Given the description of an element on the screen output the (x, y) to click on. 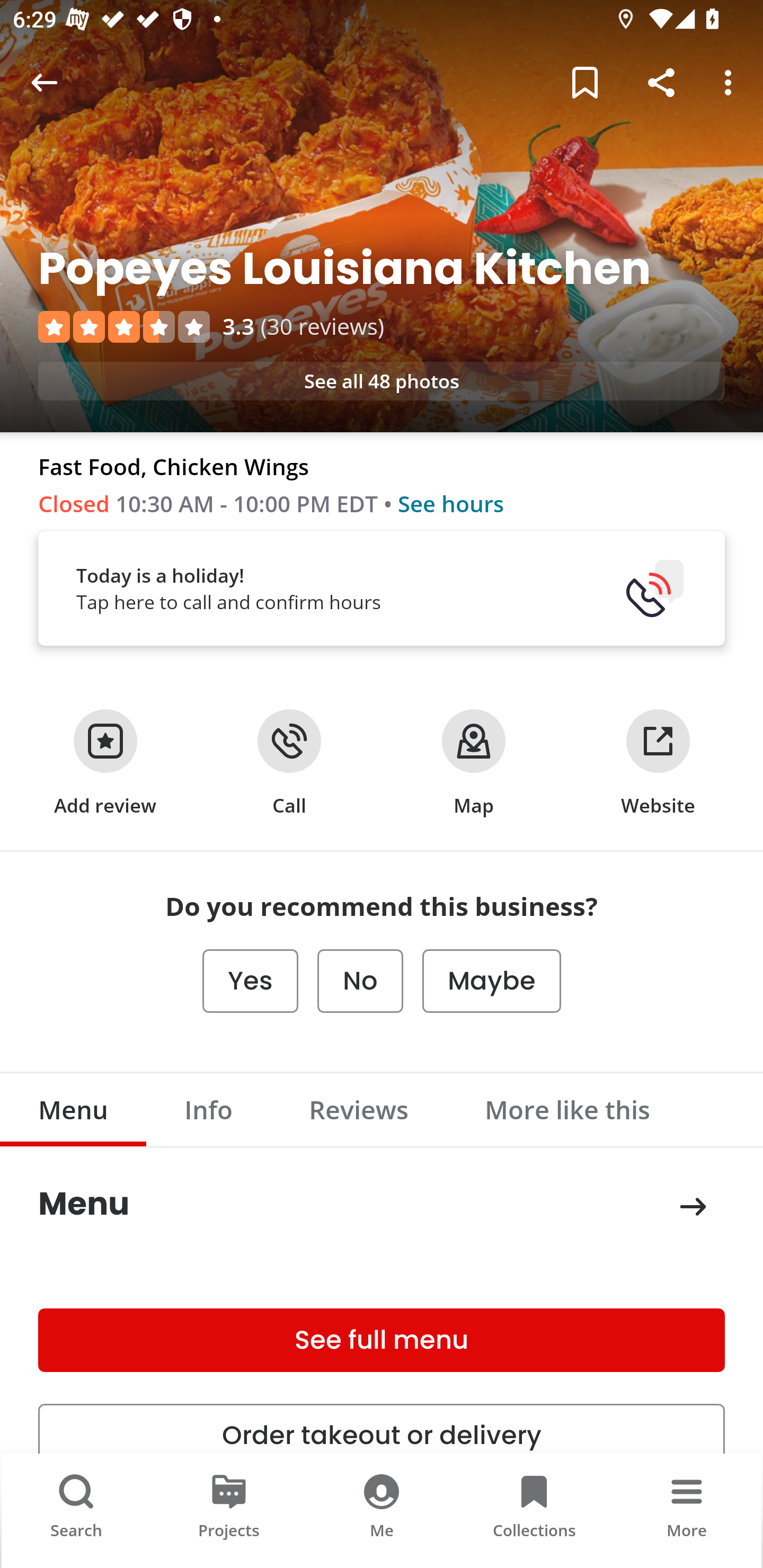
Info (208, 1108)
